Given the description of an element on the screen output the (x, y) to click on. 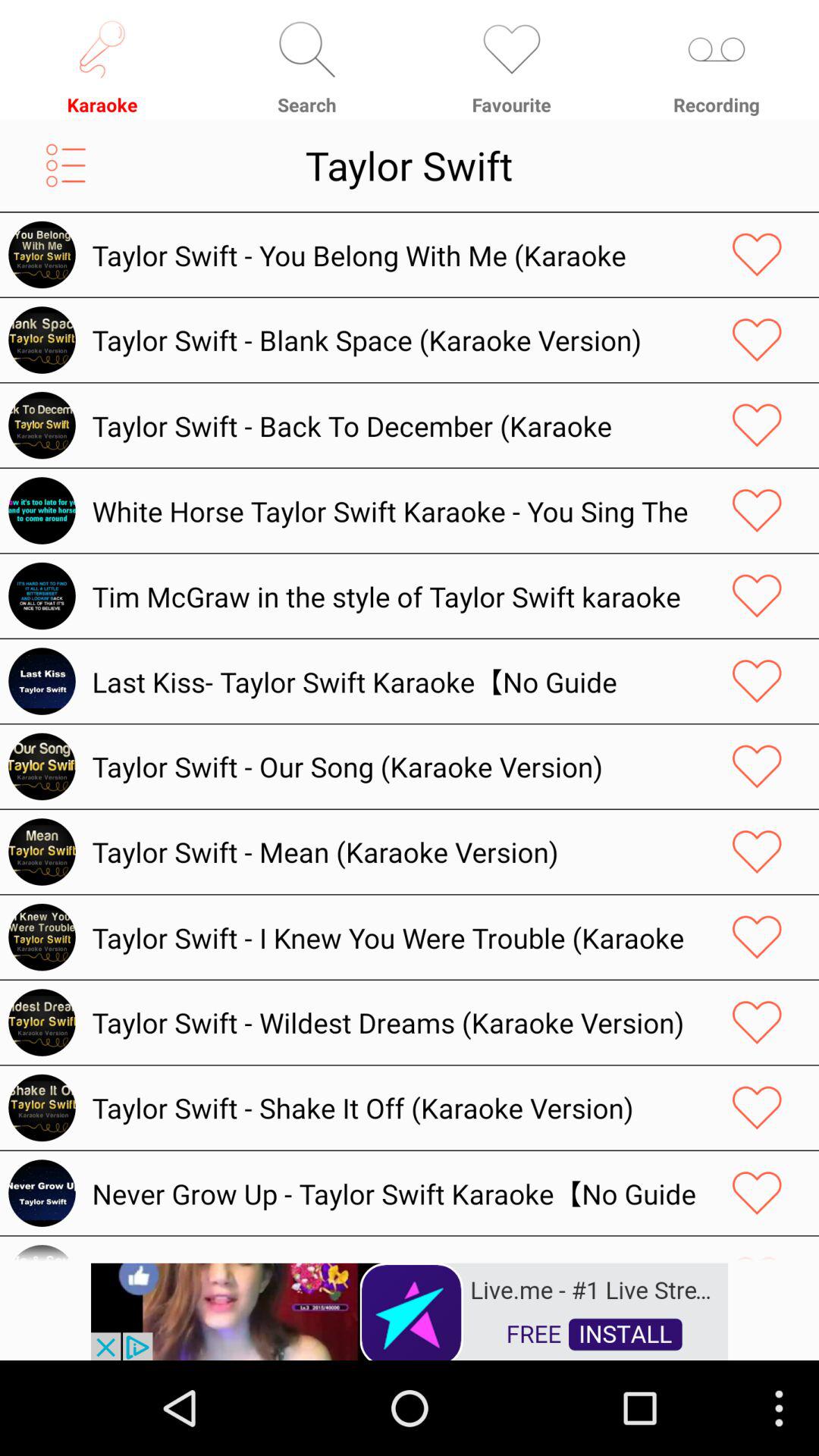
open menu (65, 165)
